Given the description of an element on the screen output the (x, y) to click on. 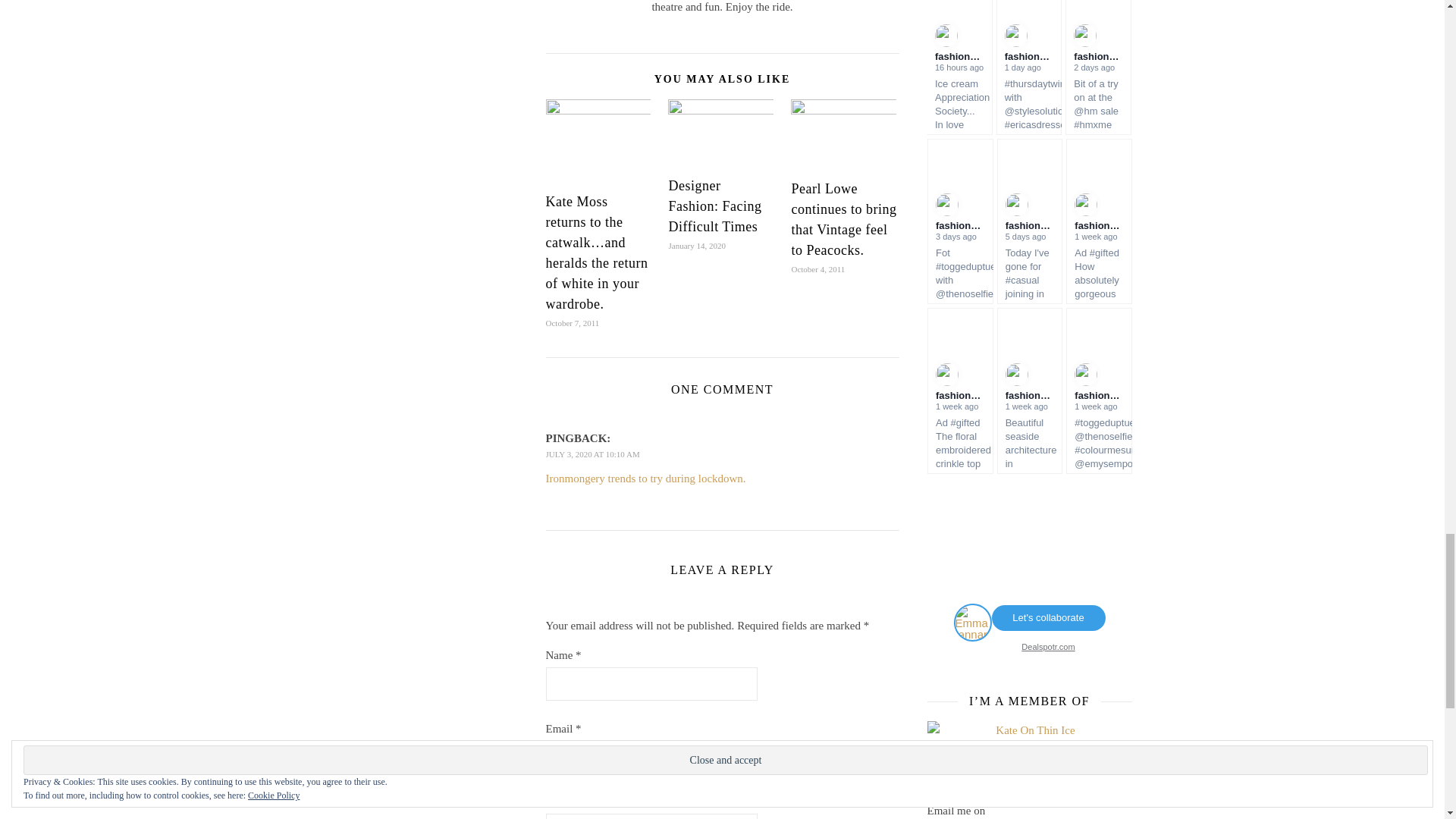
Pearl Lowe continues to bring that Vintage feel to Peacocks. (843, 218)
Ironmongery trends to try during lockdown. (645, 478)
JULY 3, 2020 AT 10:10 AM (593, 453)
Designer Fashion: Facing Difficult Times (714, 206)
